Given the description of an element on the screen output the (x, y) to click on. 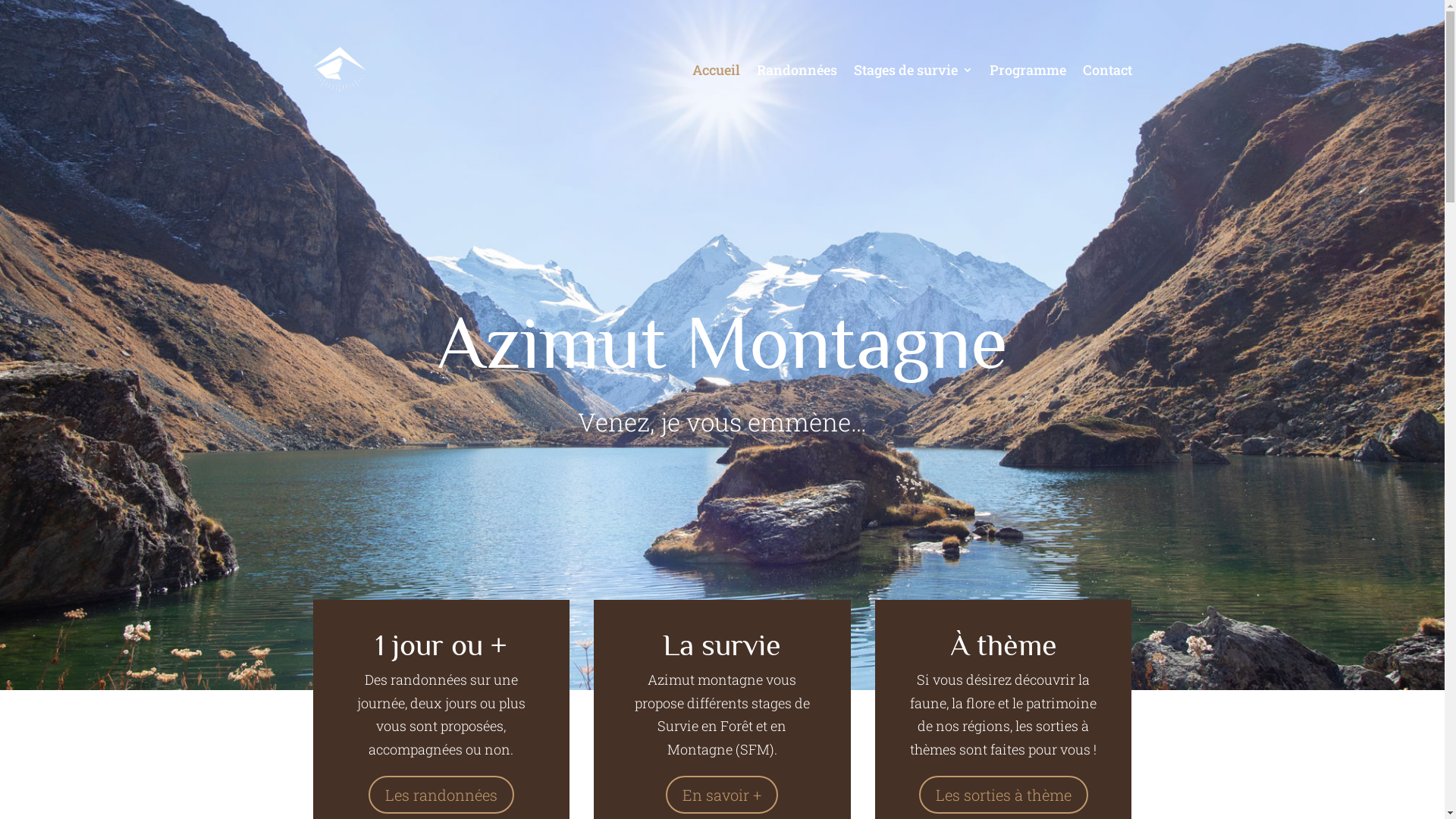
Programme Element type: text (1026, 69)
Stages de survie Element type: text (912, 69)
En savoir + Element type: text (721, 794)
Contact Element type: text (1107, 69)
Accueil Element type: text (715, 69)
